Given the description of an element on the screen output the (x, y) to click on. 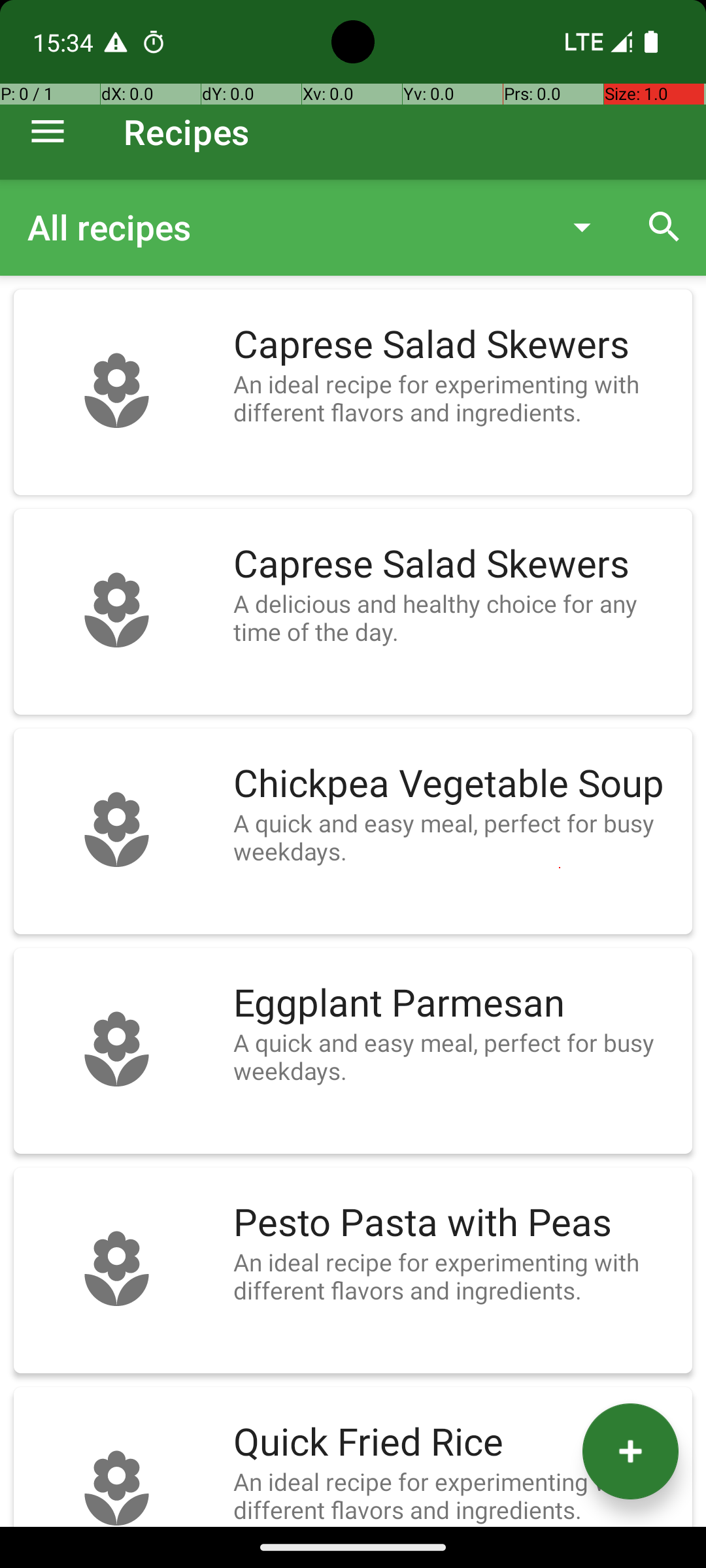
Chickpea Vegetable Soup Element type: android.widget.TextView (455, 783)
Eggplant Parmesan Element type: android.widget.TextView (455, 1003)
Pesto Pasta with Peas Element type: android.widget.TextView (455, 1222)
Quick Fried Rice Element type: android.widget.TextView (455, 1442)
